Given the description of an element on the screen output the (x, y) to click on. 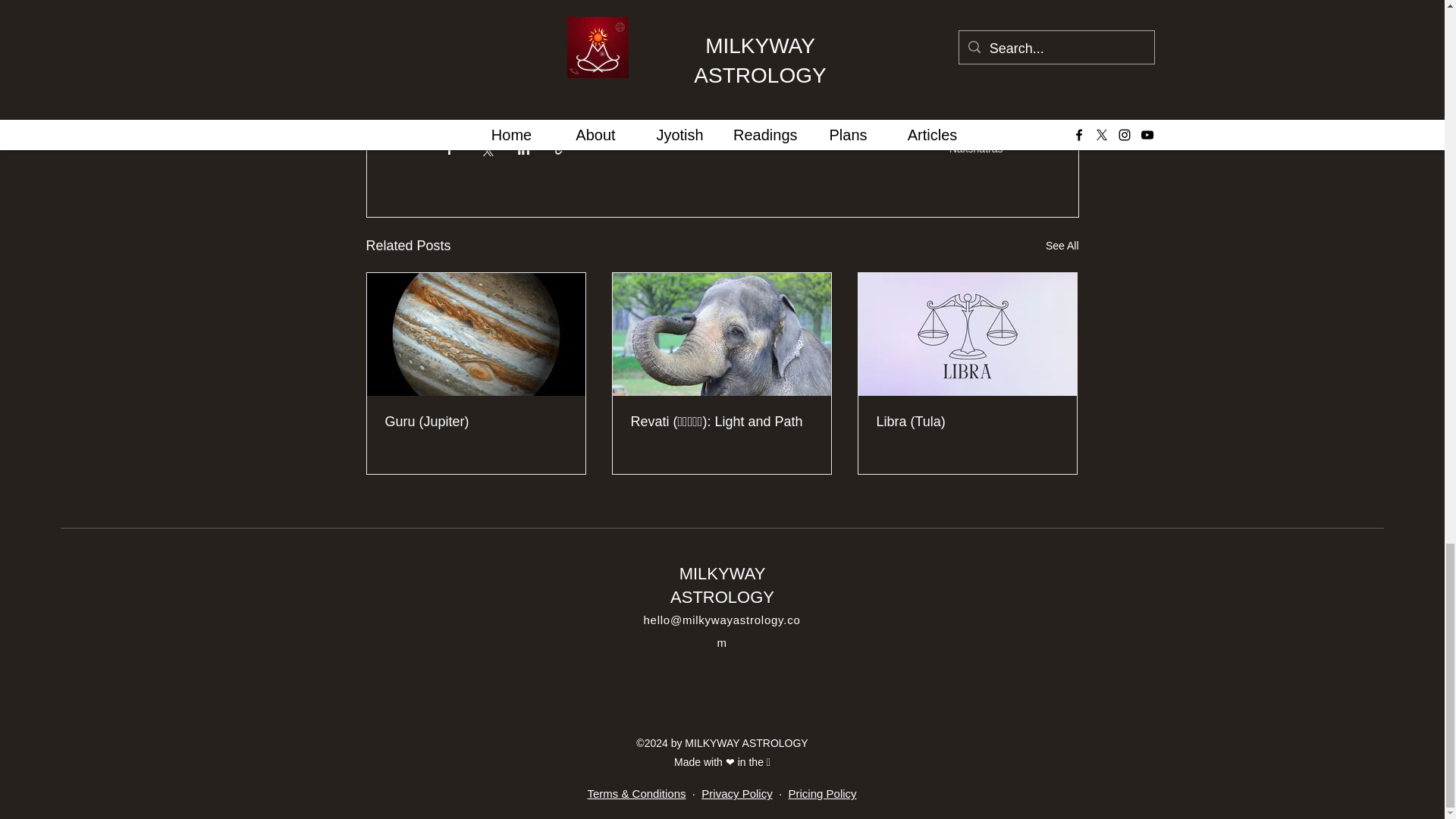
Next (454, 2)
Jupiter (465, 92)
Back (456, 18)
